Given the description of an element on the screen output the (x, y) to click on. 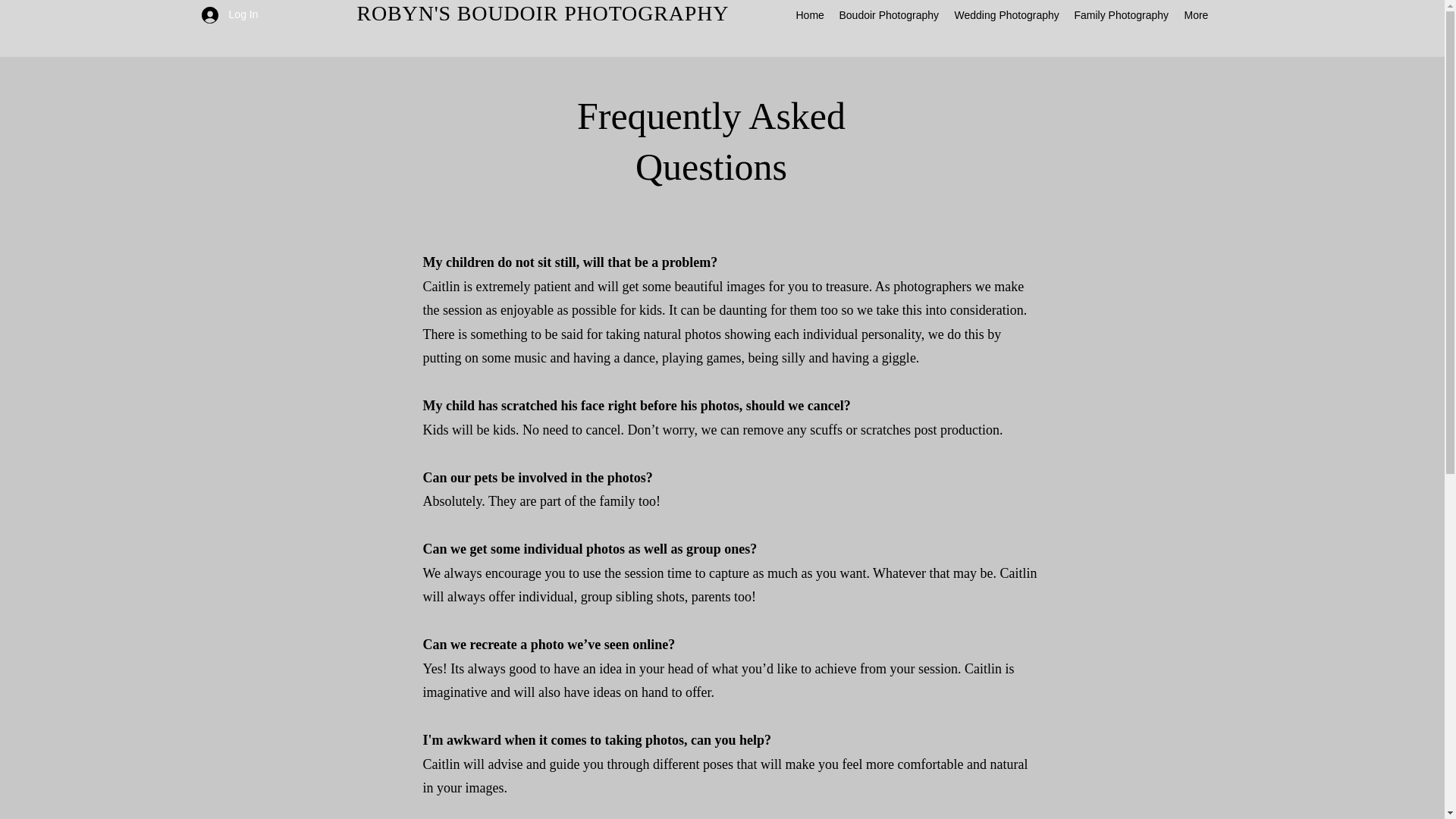
Family Photography (1120, 15)
Wedding Photography (1005, 15)
Boudoir Photography (888, 15)
Log In (229, 14)
Home (810, 15)
